Given the description of an element on the screen output the (x, y) to click on. 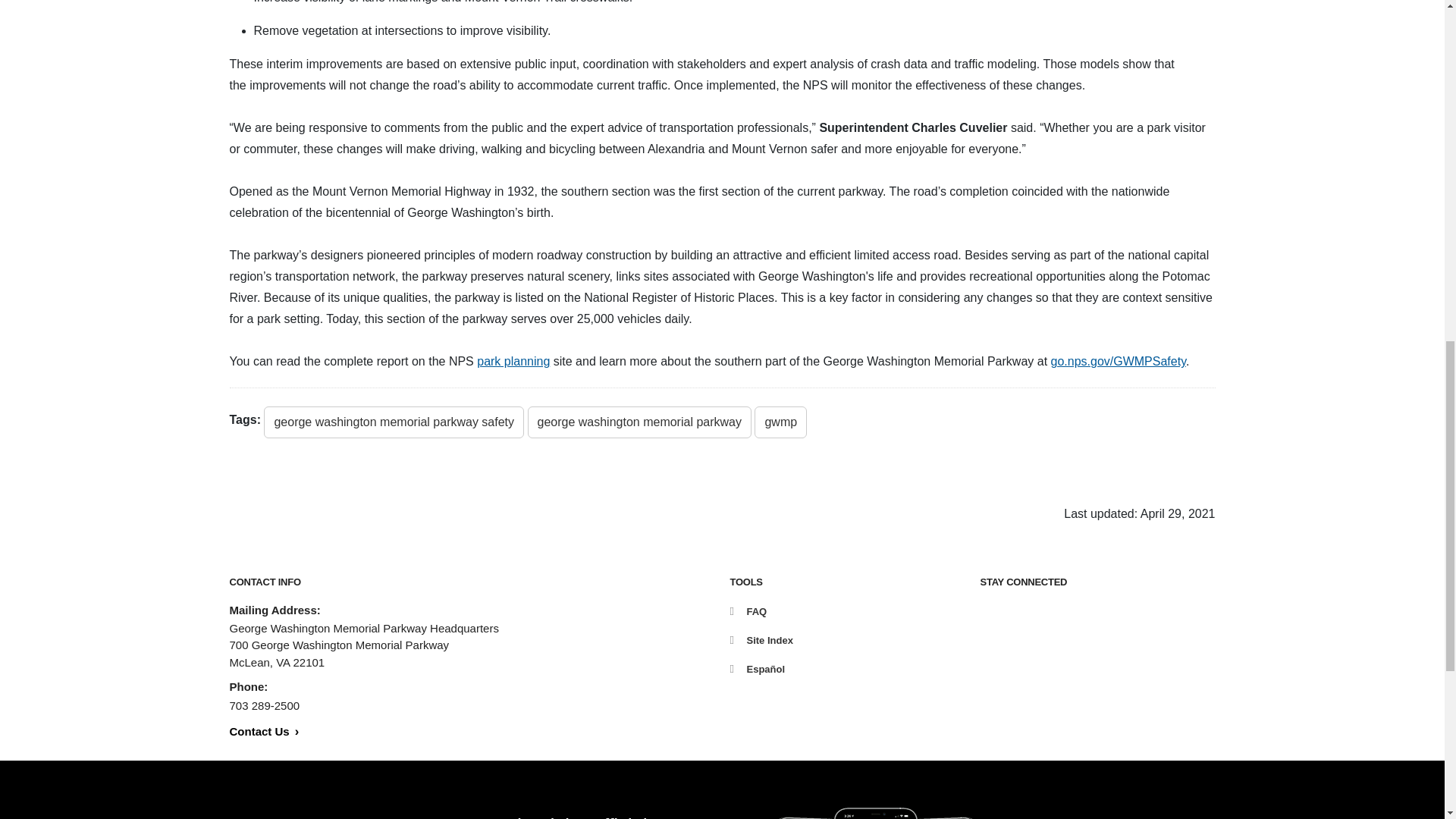
Contact Us (263, 730)
Site Index (760, 640)
FAQ (748, 611)
gwmp (780, 422)
park planning (513, 360)
george washington memorial parkway (639, 422)
george washington memorial parkway safety (393, 422)
